Given the description of an element on the screen output the (x, y) to click on. 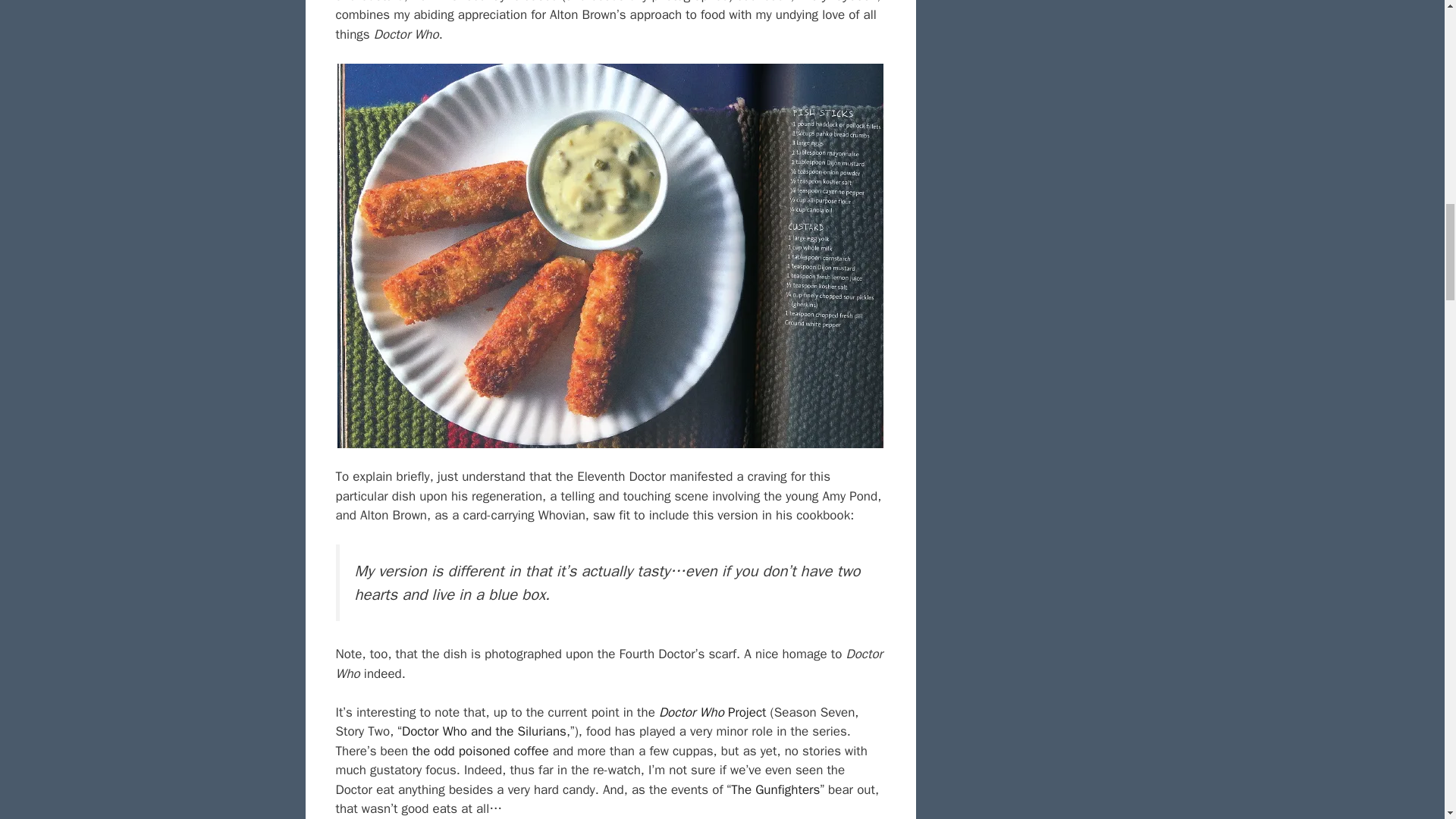
The Gunfighters (774, 789)
EveryDayCook (837, 2)
the odd poisoned coffee (480, 750)
Doctor Who and the Silurians (483, 731)
Doctor Who Project (713, 712)
